Given the description of an element on the screen output the (x, y) to click on. 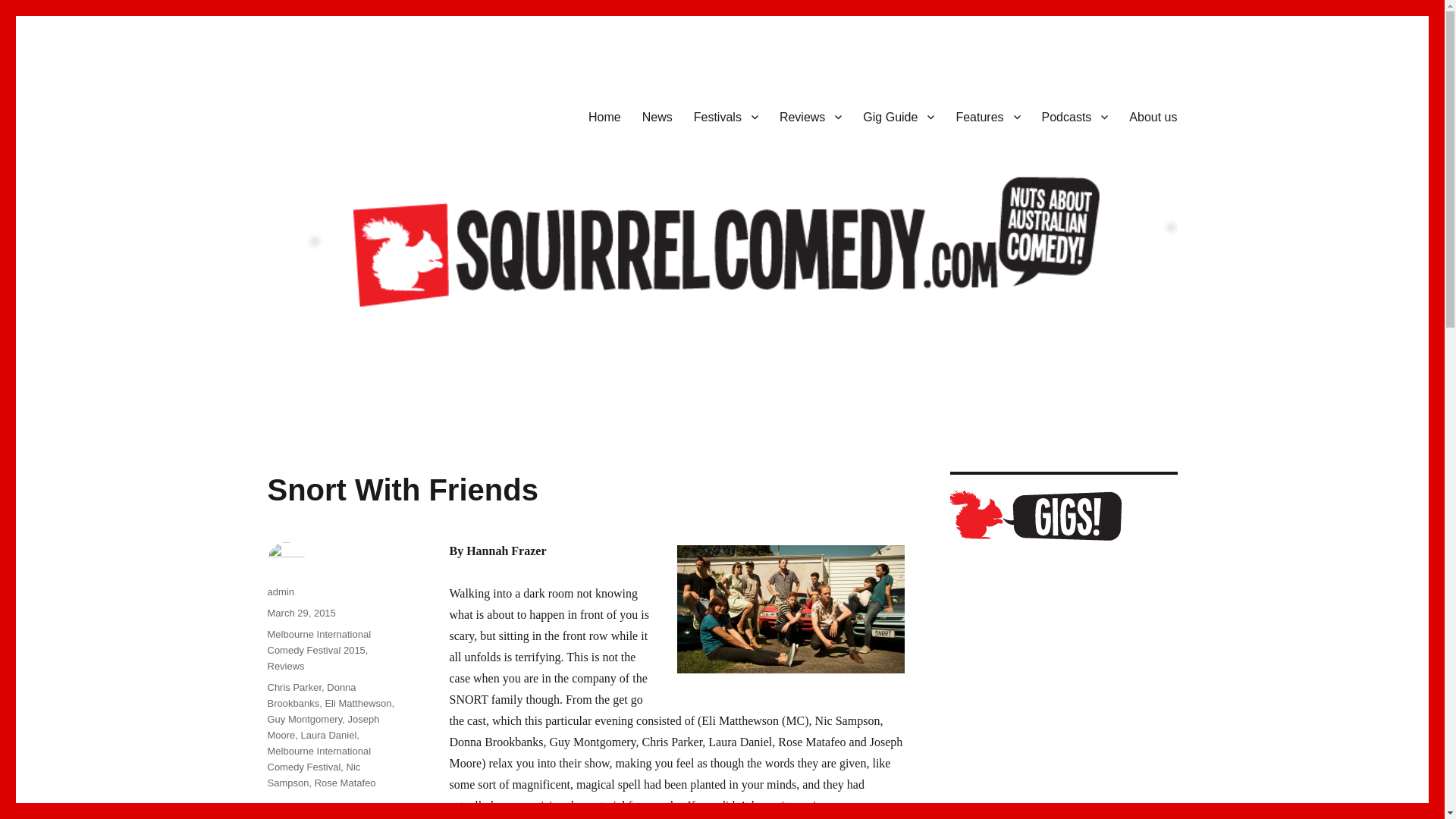
Home (604, 116)
About us (1153, 116)
Reviews (809, 116)
Squirrel Comedy (351, 114)
Podcasts (1074, 116)
News (656, 116)
Features (987, 116)
Festivals (725, 116)
Gig Guide (897, 116)
